Given the description of an element on the screen output the (x, y) to click on. 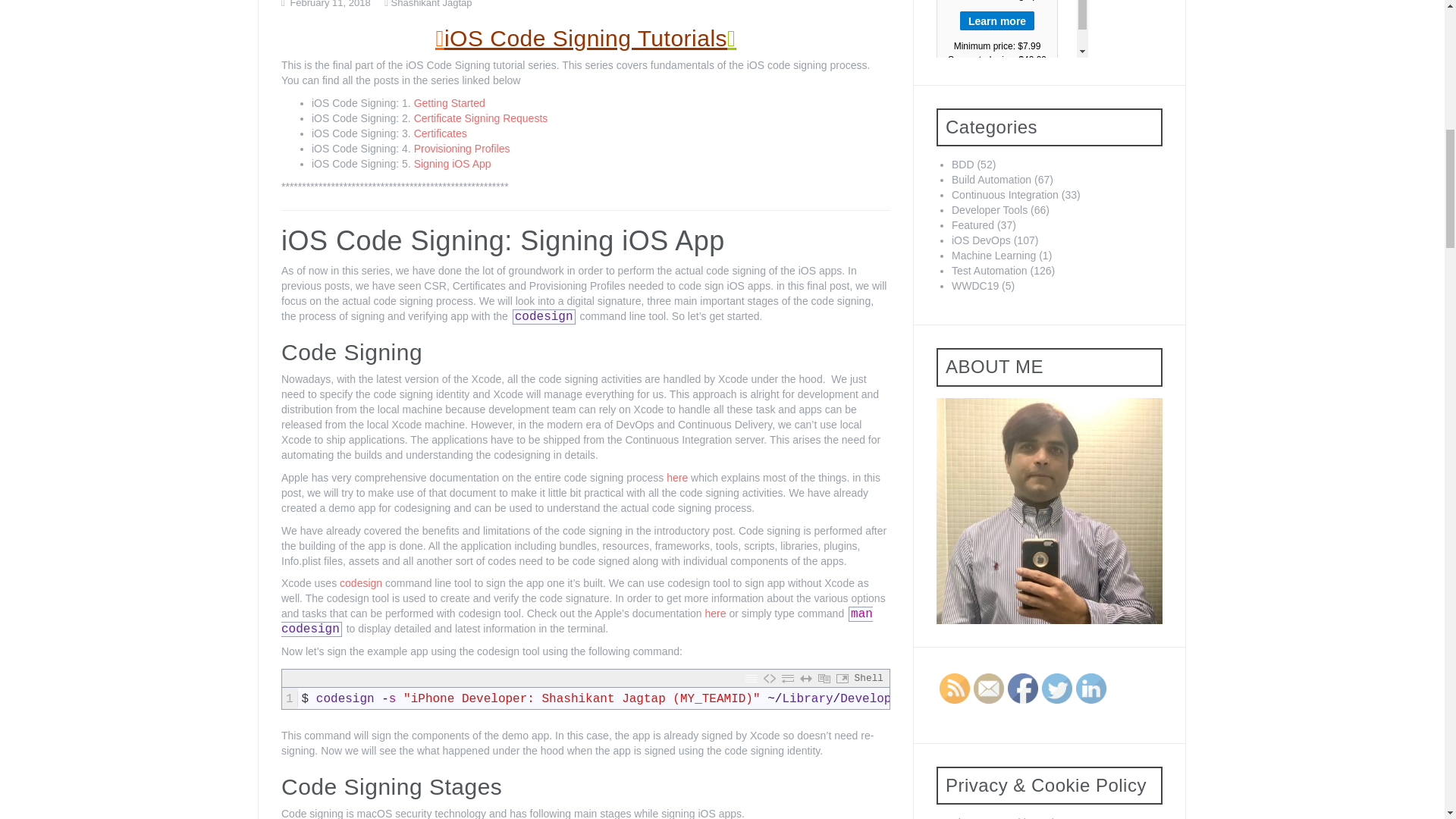
Signing iOS App (452, 163)
Toggle Plain Code (769, 678)
Build Automation (991, 179)
Certificate Signing Requests (480, 118)
Open Code In New Window (841, 678)
Copy (823, 678)
Shashikant Jagtap (431, 4)
Expand Code (805, 678)
Certificates (440, 133)
BDD (963, 164)
here (676, 477)
Toggle Line Numbers (751, 678)
here (715, 613)
codesign (360, 582)
Getting Started (448, 102)
